Given the description of an element on the screen output the (x, y) to click on. 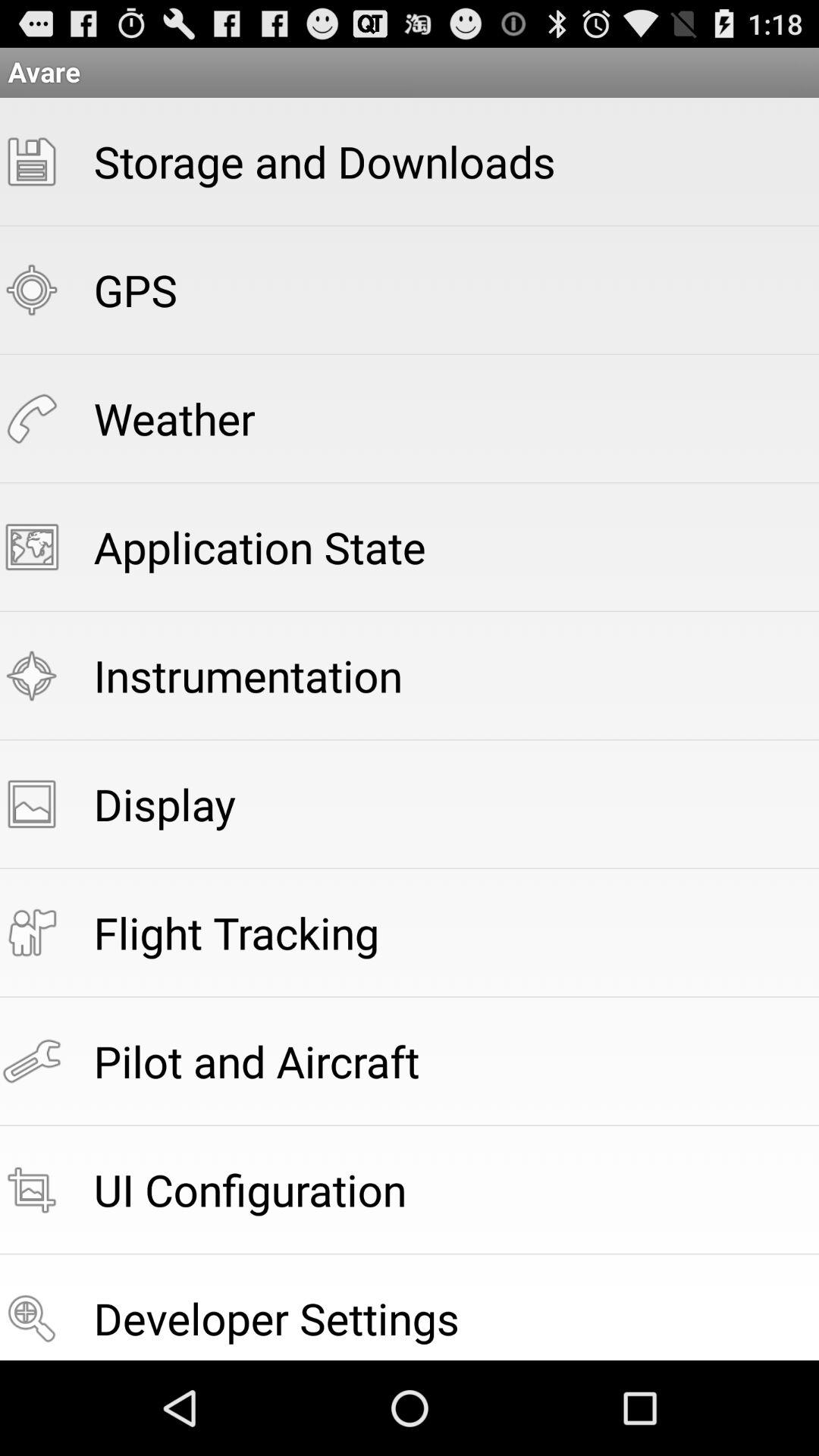
open the app above ui configuration app (256, 1060)
